Given the description of an element on the screen output the (x, y) to click on. 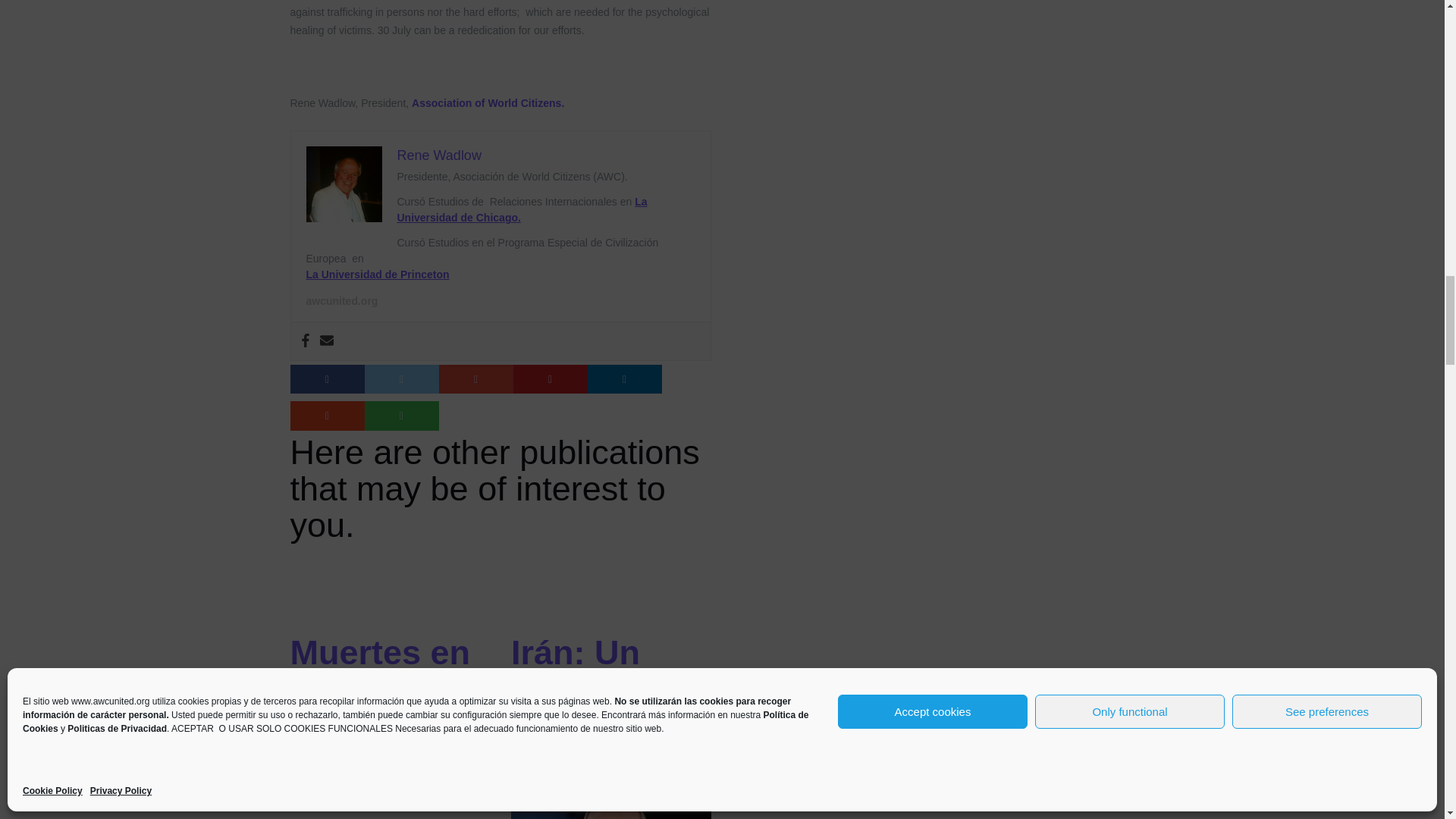
Association of World Citizens. (488, 102)
Pinterest (549, 378)
User email (326, 340)
Linkedin (623, 378)
La Universidad de Chicago. (522, 209)
Facebook (305, 340)
awcunited.org (341, 300)
Rene Wadlow (439, 155)
Facebook (326, 378)
Twitter (401, 378)
La Universidad de Princeton (377, 274)
